Given the description of an element on the screen output the (x, y) to click on. 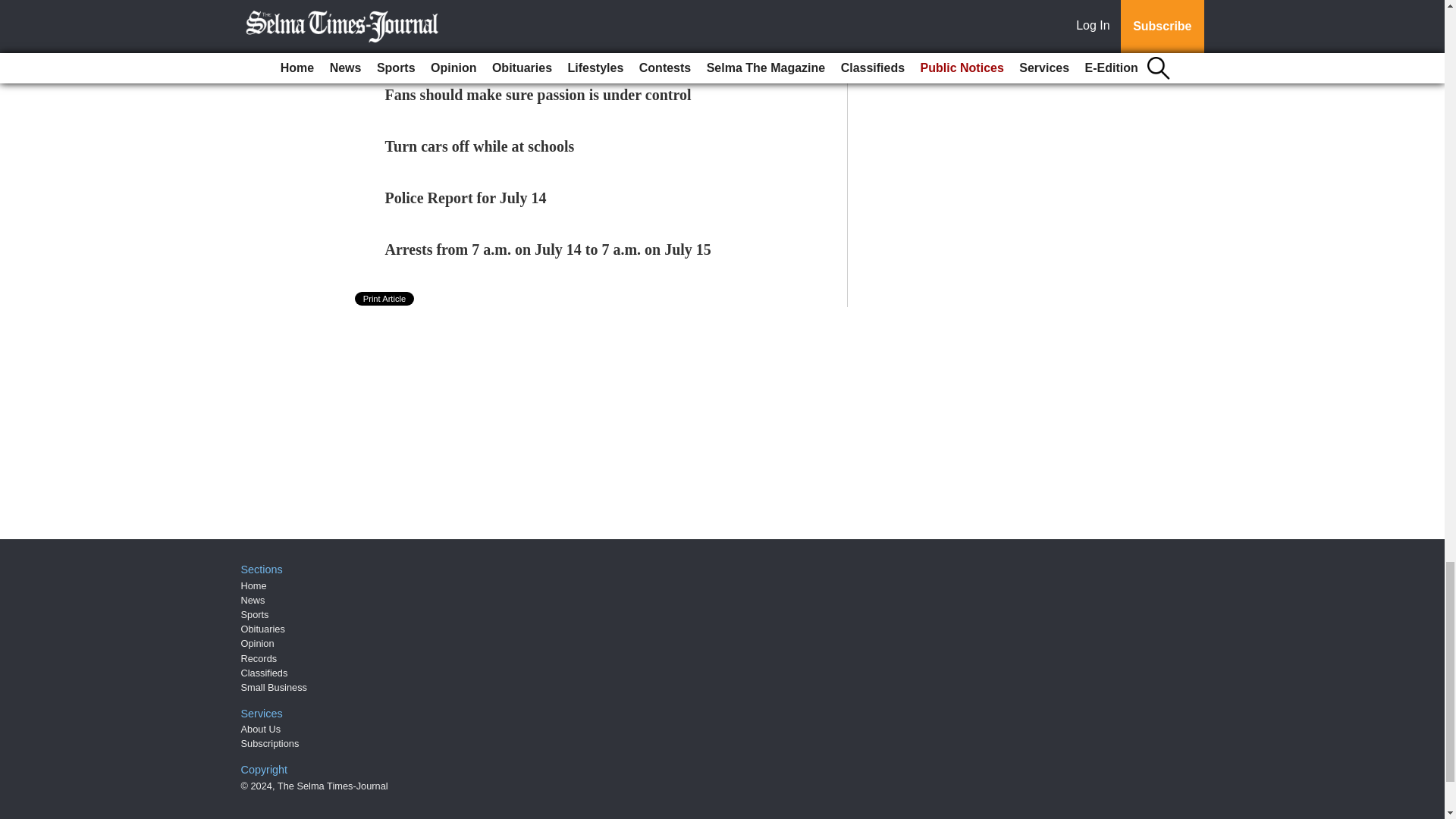
Arrests from 7 a.m. on July 14 to 7 a.m. on July 15 (548, 248)
Fans should make sure passion is under control (538, 94)
Turn cars off while at schools (480, 146)
Police Report for July 14 (466, 197)
Fans should make sure passion is under control (538, 94)
Arrests from 7 a.m. on July 14 to 7 a.m. on July 15 (548, 248)
Turn cars off while at schools (480, 146)
Print Article (384, 298)
Police Report for July 14 (466, 197)
